Given the description of an element on the screen output the (x, y) to click on. 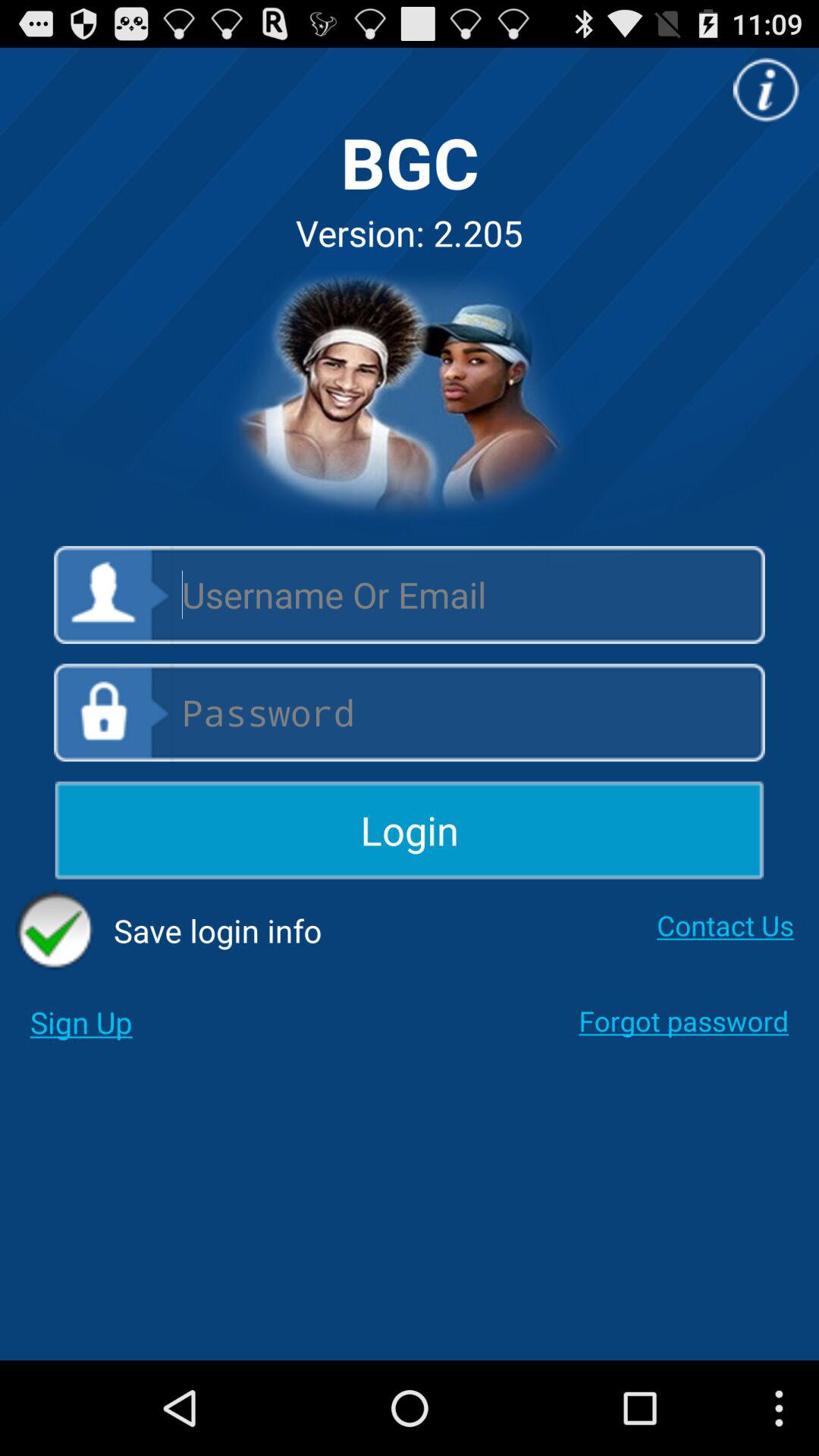
tap item below version: 2.205 icon (409, 396)
